Given the description of an element on the screen output the (x, y) to click on. 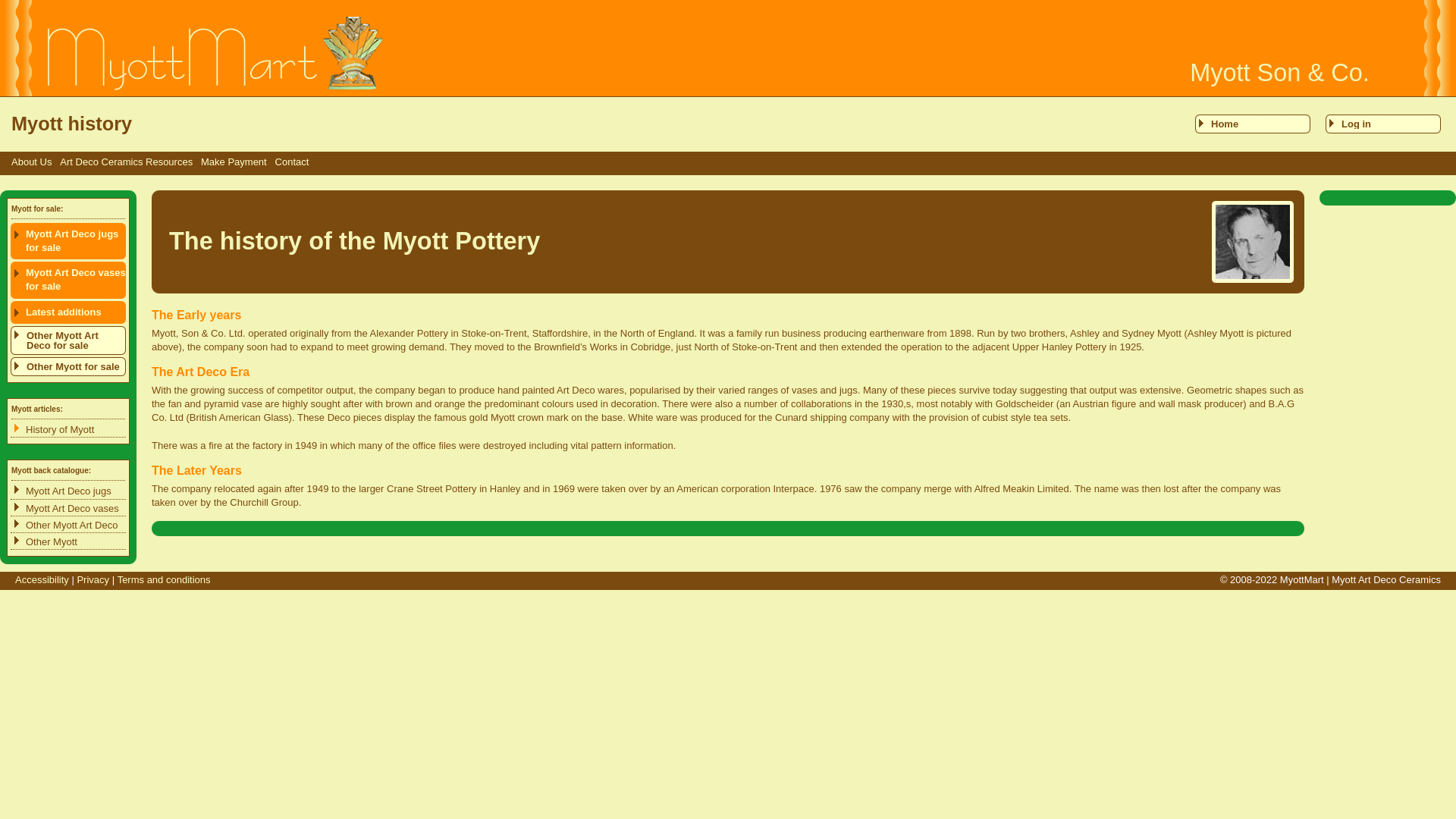
Other Myott (67, 542)
Myott Art Deco jugs (67, 491)
Make Payment (233, 161)
History of Myott (67, 430)
Other Myott for sale (67, 366)
Myott Art Deco vases (67, 509)
Latest additions (67, 312)
Other Myott Art Deco (67, 525)
Privacy (93, 579)
Contact (291, 161)
Other Myott Art Deco for sale (67, 339)
Terms and conditions (164, 579)
Log in (1382, 123)
Myott Art Deco vases for sale (67, 279)
Home (1252, 123)
